Given the description of an element on the screen output the (x, y) to click on. 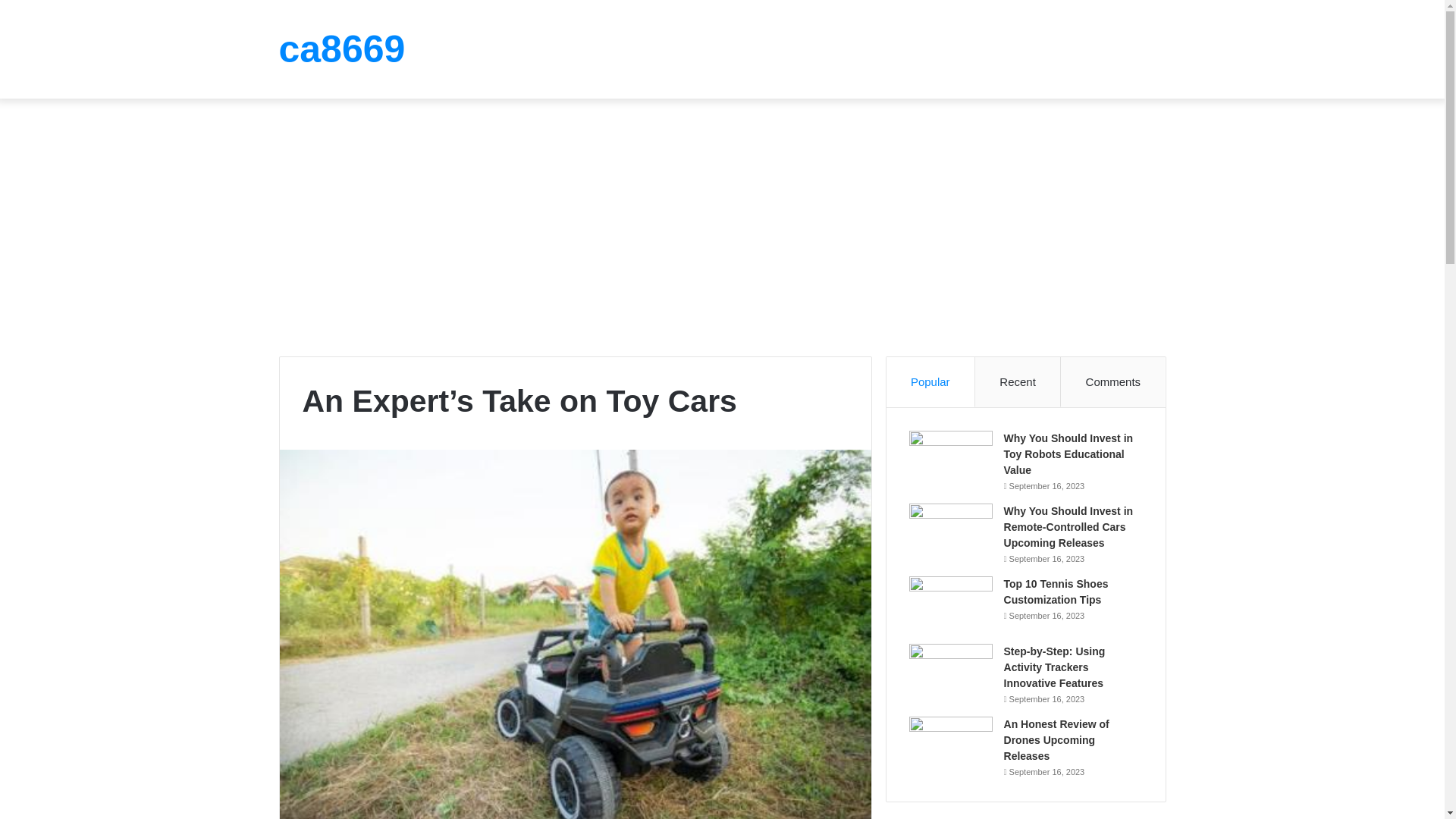
ca8669 (342, 48)
Recent (1018, 382)
ca8669 (342, 48)
Popular (930, 382)
Top 10 Tennis Shoes Customization Tips (1056, 592)
Step-by-Step: Using Activity Trackers Innovative Features (1054, 667)
An Honest Review of Drones Upcoming Releases (1056, 740)
Why You Should Invest in Toy Robots Educational Value (1069, 453)
Comments (1112, 382)
